Given the description of an element on the screen output the (x, y) to click on. 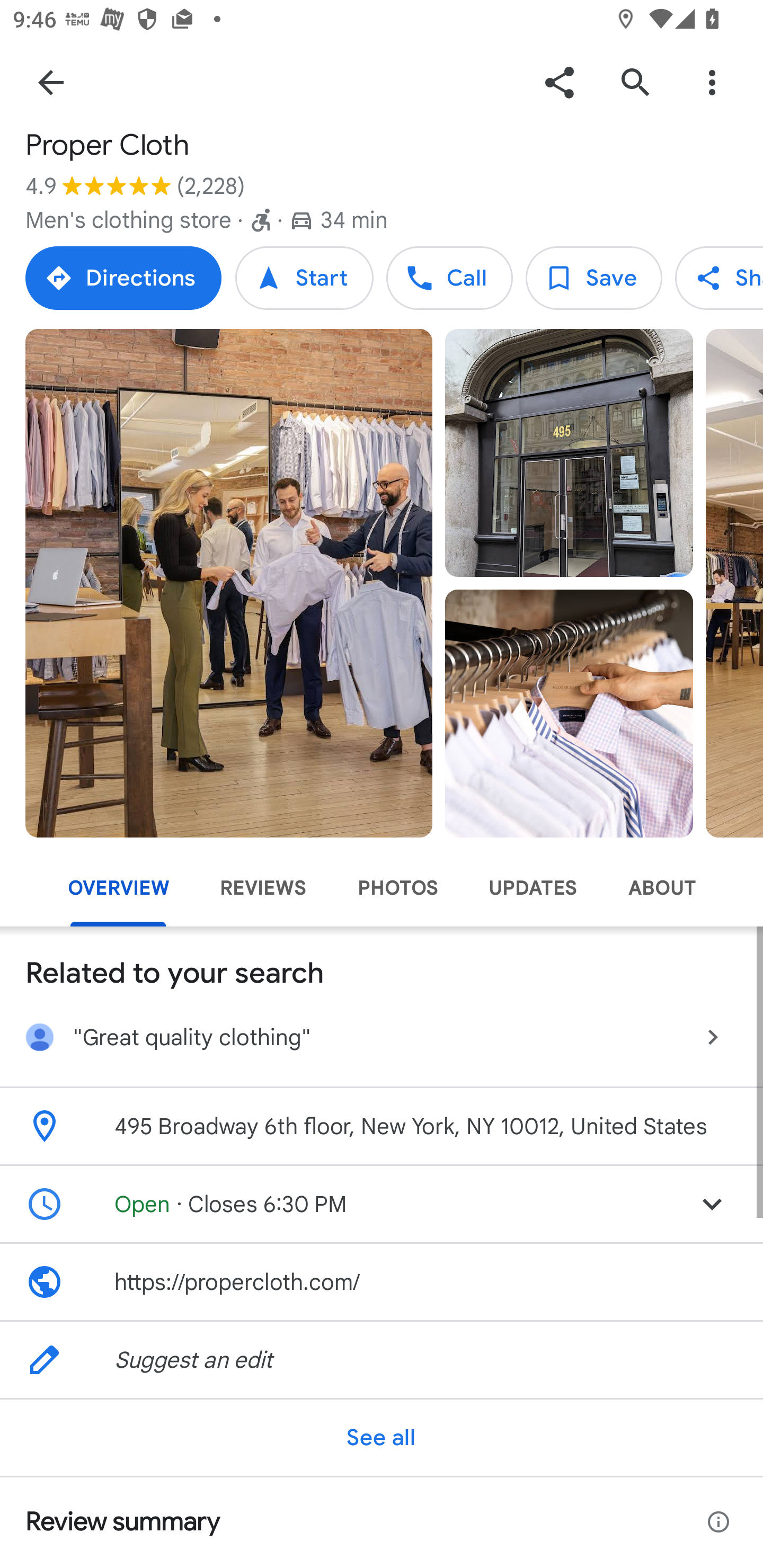
Back to Search (50, 81)
Share (559, 81)
Search (635, 81)
More options for Proper Cloth (711, 81)
Start Start Start (304, 277)
Share Proper Cloth Share Share Proper Cloth (719, 277)
Photo (228, 583)
Photo (568, 453)
Photo (568, 713)
View Street view imagery for Proper Cloth (93, 881)
REVIEWS Reviews (262, 887)
PHOTOS Photos (397, 887)
UPDATES Updates (532, 887)
ABOUT About (661, 887)
"Great quality clothing" (381, 1040)
Suggest an edit (381, 1359)
